Given the description of an element on the screen output the (x, y) to click on. 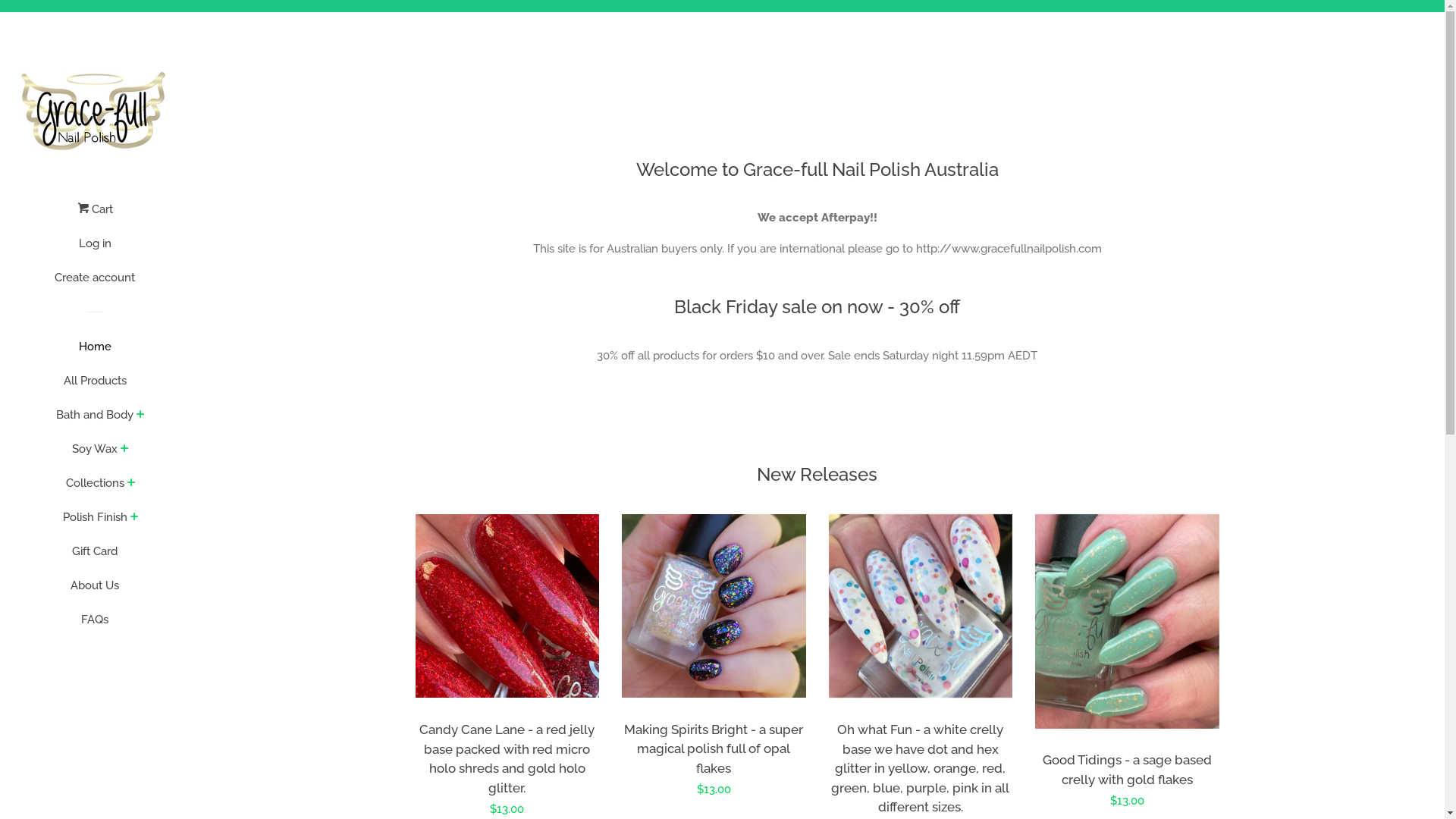
All Products Element type: text (94, 386)
Home Element type: text (94, 352)
Cart Element type: text (94, 214)
expand Element type: text (131, 483)
FAQs Element type: text (94, 625)
Polish Finish Element type: text (94, 522)
expand Element type: text (124, 449)
Gift Card Element type: text (94, 556)
Create account Element type: text (94, 283)
expand Element type: text (134, 517)
Bath and Body Element type: text (94, 420)
Collections Element type: text (94, 488)
About Us Element type: text (94, 591)
Soy Wax Element type: text (94, 454)
expand Element type: text (140, 415)
Log in Element type: text (94, 249)
